Given the description of an element on the screen output the (x, y) to click on. 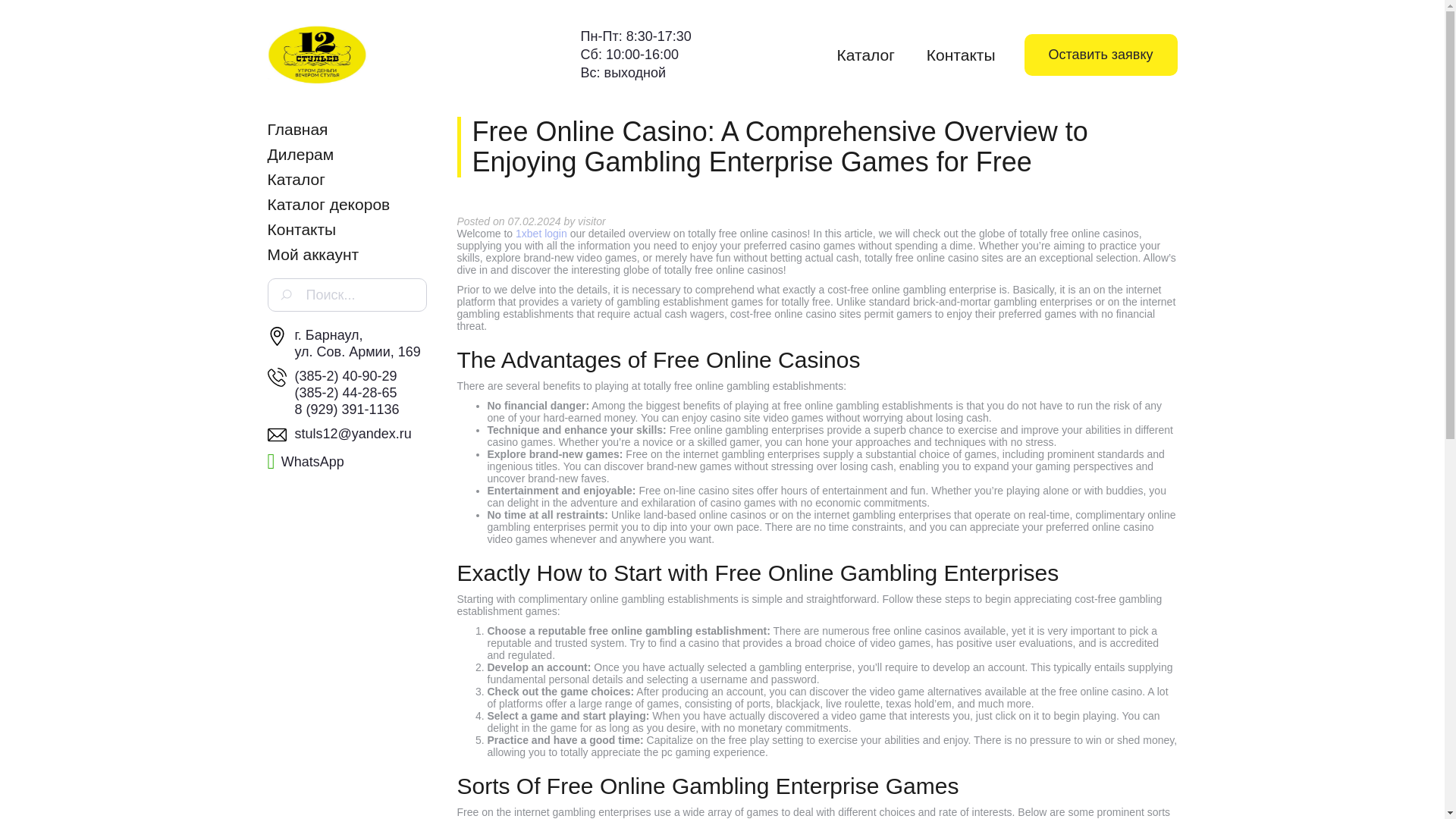
WhatsApp (304, 460)
visitor (591, 221)
1xbet login (541, 233)
07.02.2024 (533, 221)
